Given the description of an element on the screen output the (x, y) to click on. 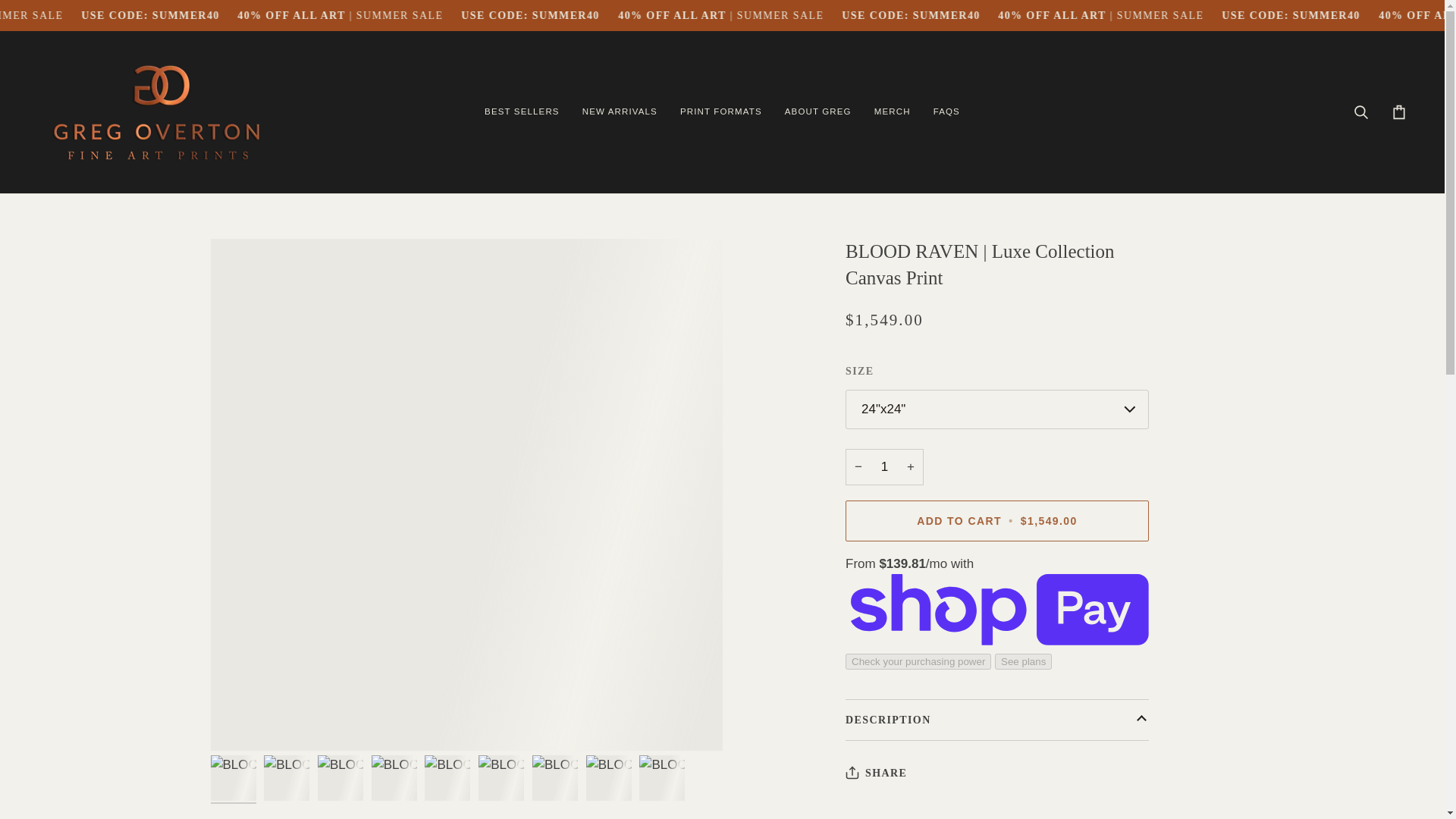
1 (884, 466)
